Given the description of an element on the screen output the (x, y) to click on. 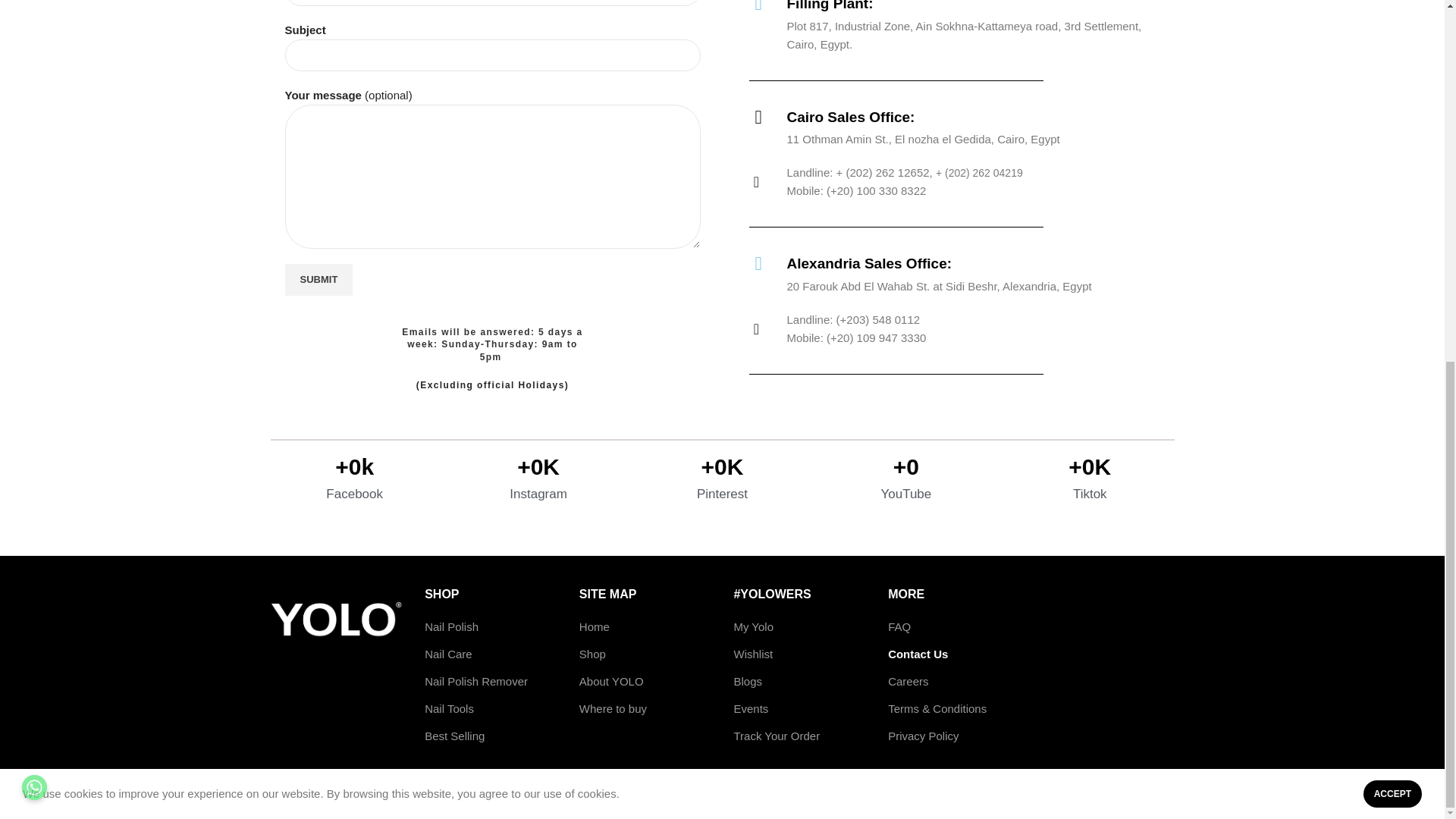
Submit (319, 279)
